Given the description of an element on the screen output the (x, y) to click on. 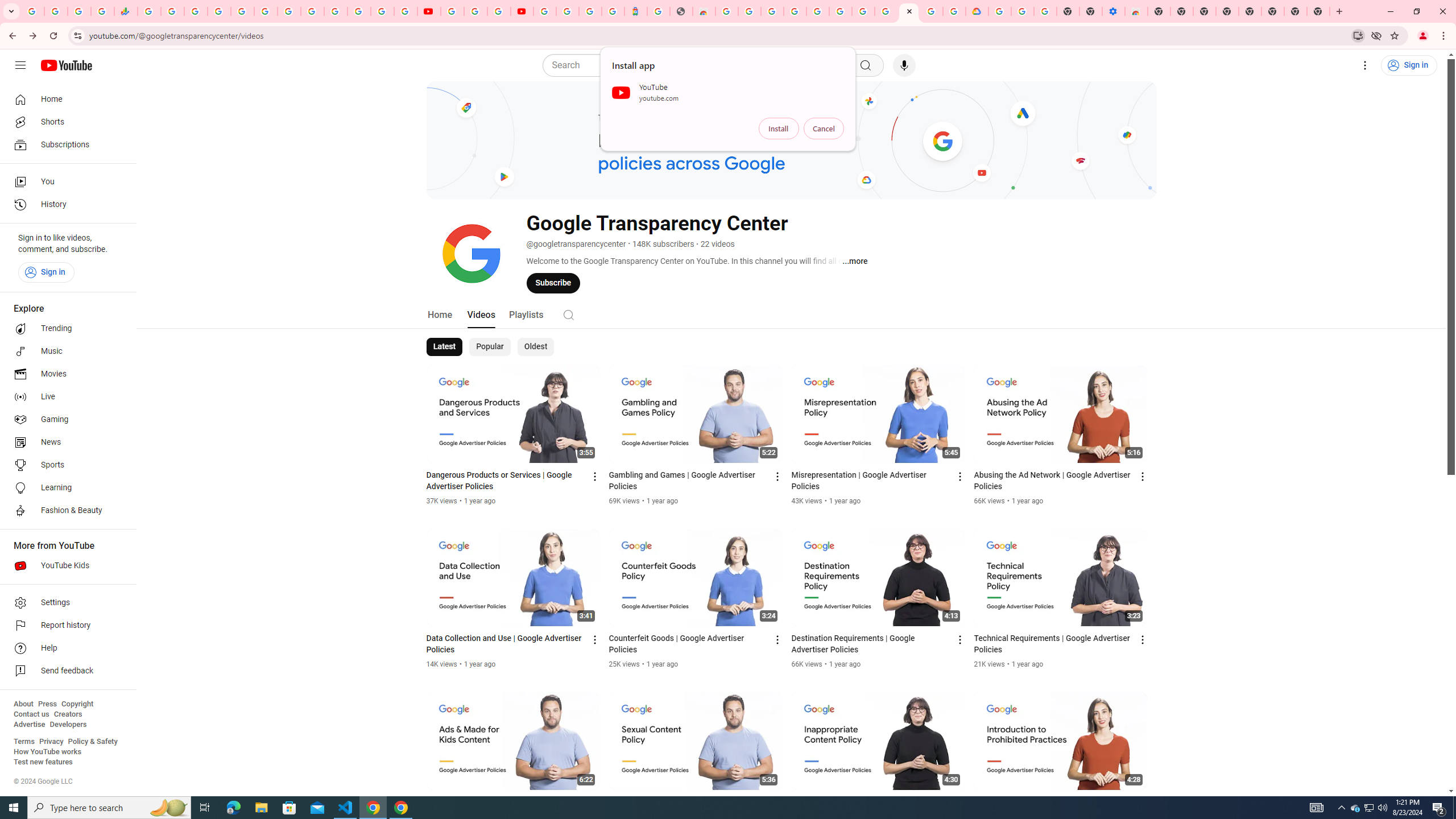
Oldest (534, 346)
Sign in - Google Accounts (335, 11)
About (23, 703)
Home (440, 314)
YouTube (428, 11)
Google Account Help (863, 11)
YouTube Home (66, 65)
Action menu (1142, 802)
New Tab (1158, 11)
